Given the description of an element on the screen output the (x, y) to click on. 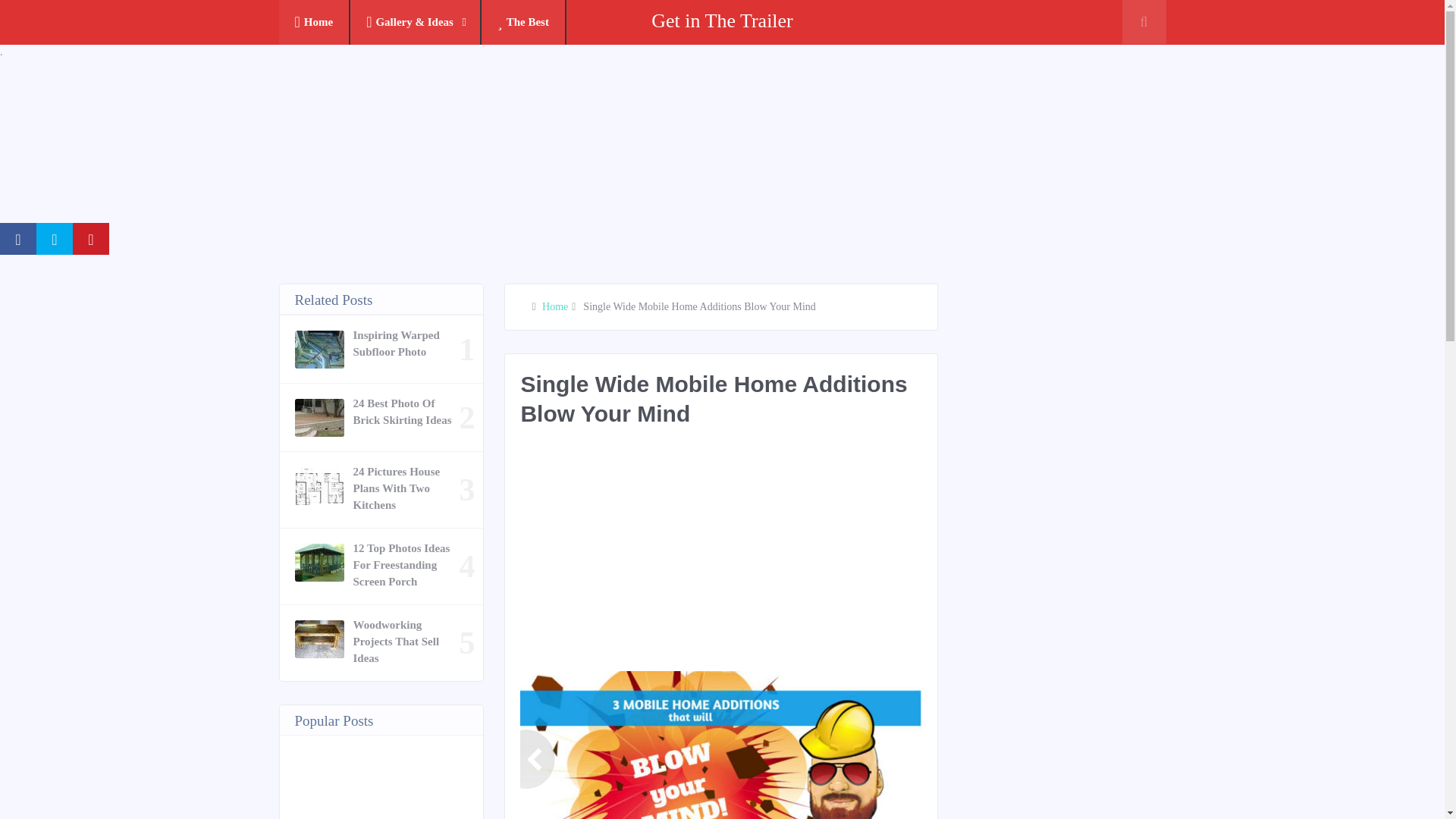
12 Top Photos Ideas For Freestanding Screen Porch (406, 564)
Home (314, 22)
The Best (523, 22)
24 Pictures House Plans With Two Kitchens (406, 488)
Inspiring Warped Subfloor Photo (406, 343)
Get in The Trailer (721, 20)
Advertisement (795, 557)
24 Best Photo Of Brick Skirting Ideas (406, 411)
Home (554, 306)
